Given the description of an element on the screen output the (x, y) to click on. 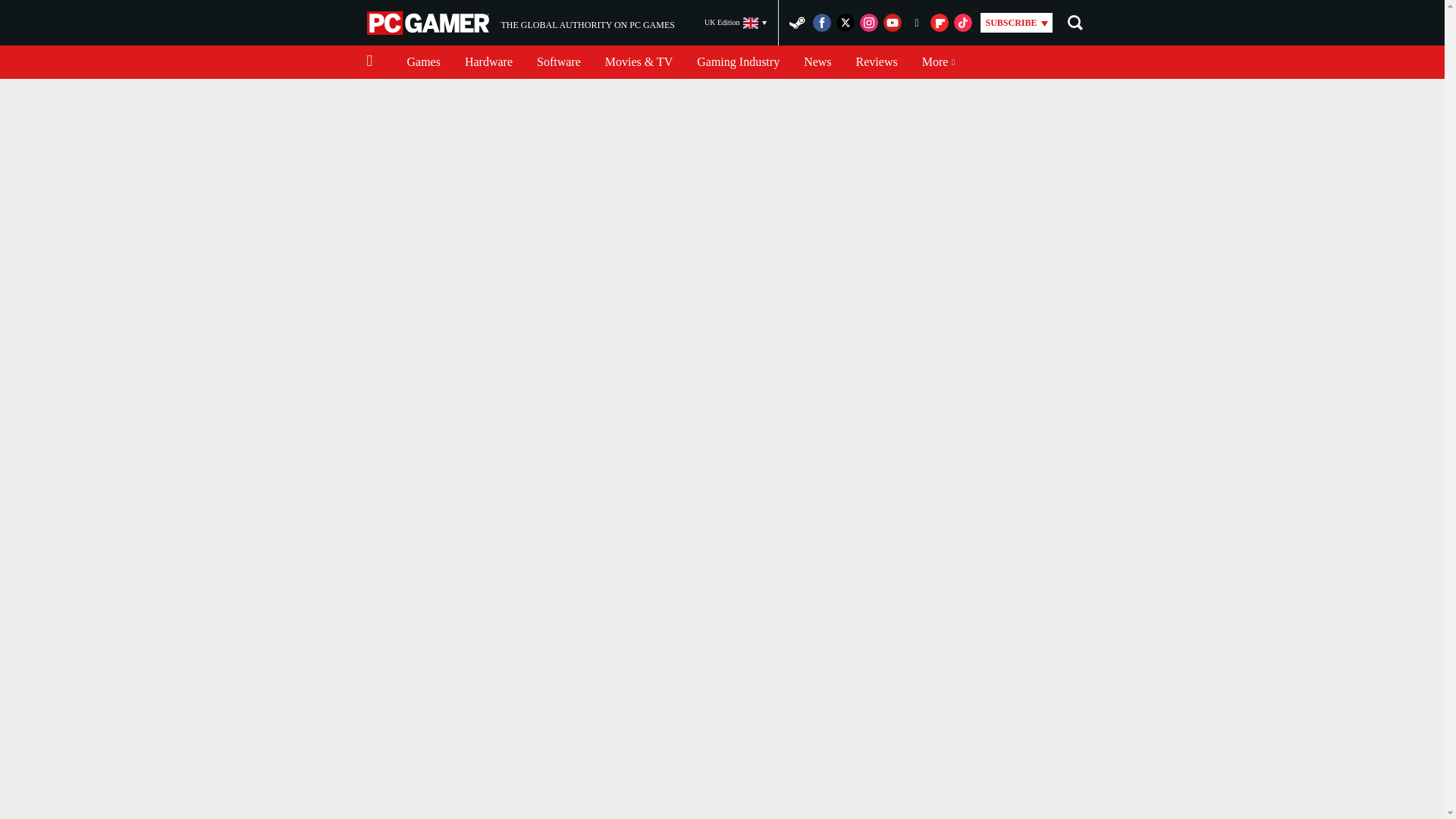
Hardware (488, 61)
UK Edition (735, 22)
Gaming Industry (738, 61)
Reviews (520, 22)
News (877, 61)
Software (817, 61)
PC Gamer (558, 61)
Games (429, 22)
